Given the description of an element on the screen output the (x, y) to click on. 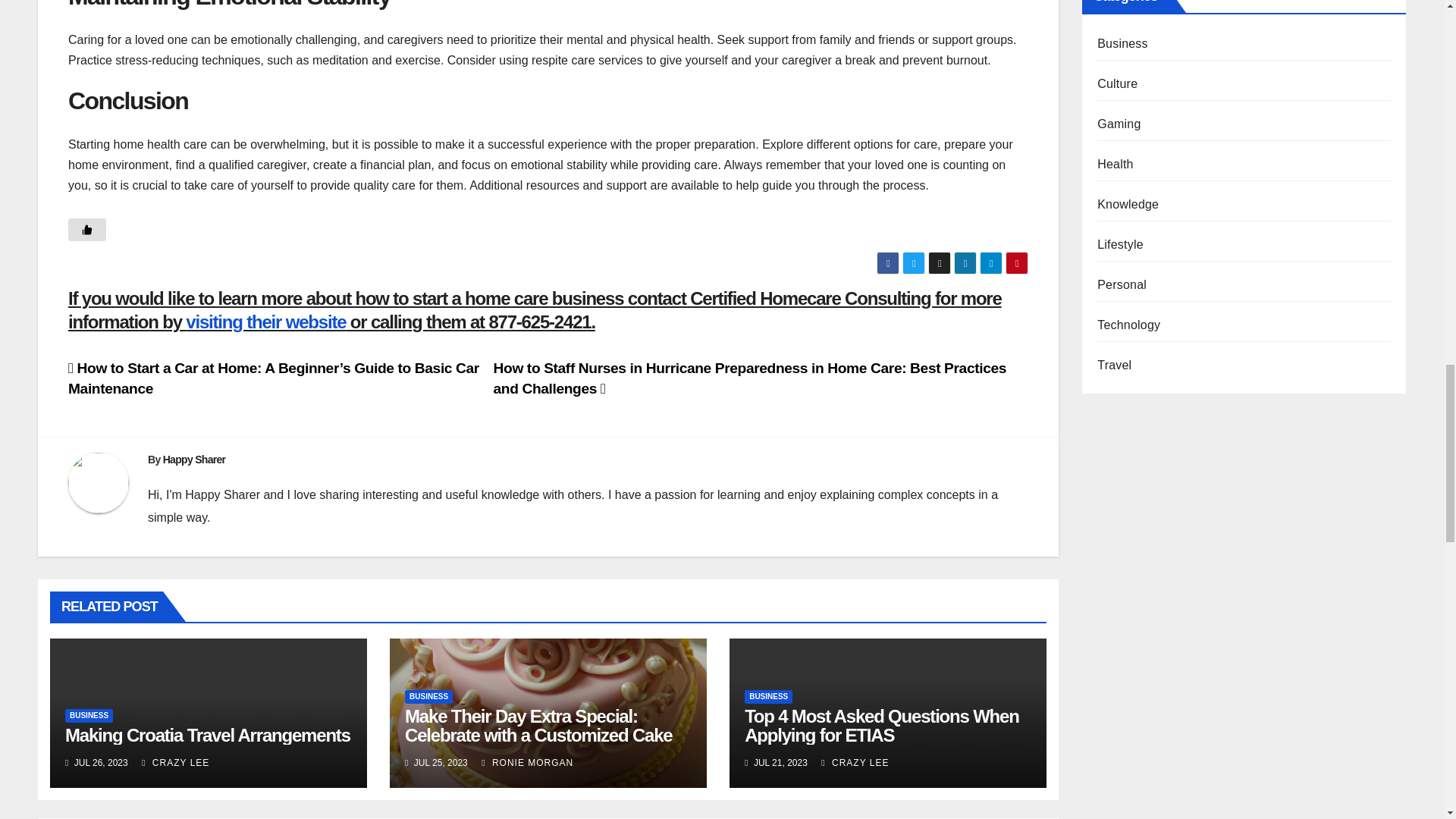
visiting their website (266, 322)
Permalink to: Making Croatia Travel Arrangements (207, 734)
